Given the description of an element on the screen output the (x, y) to click on. 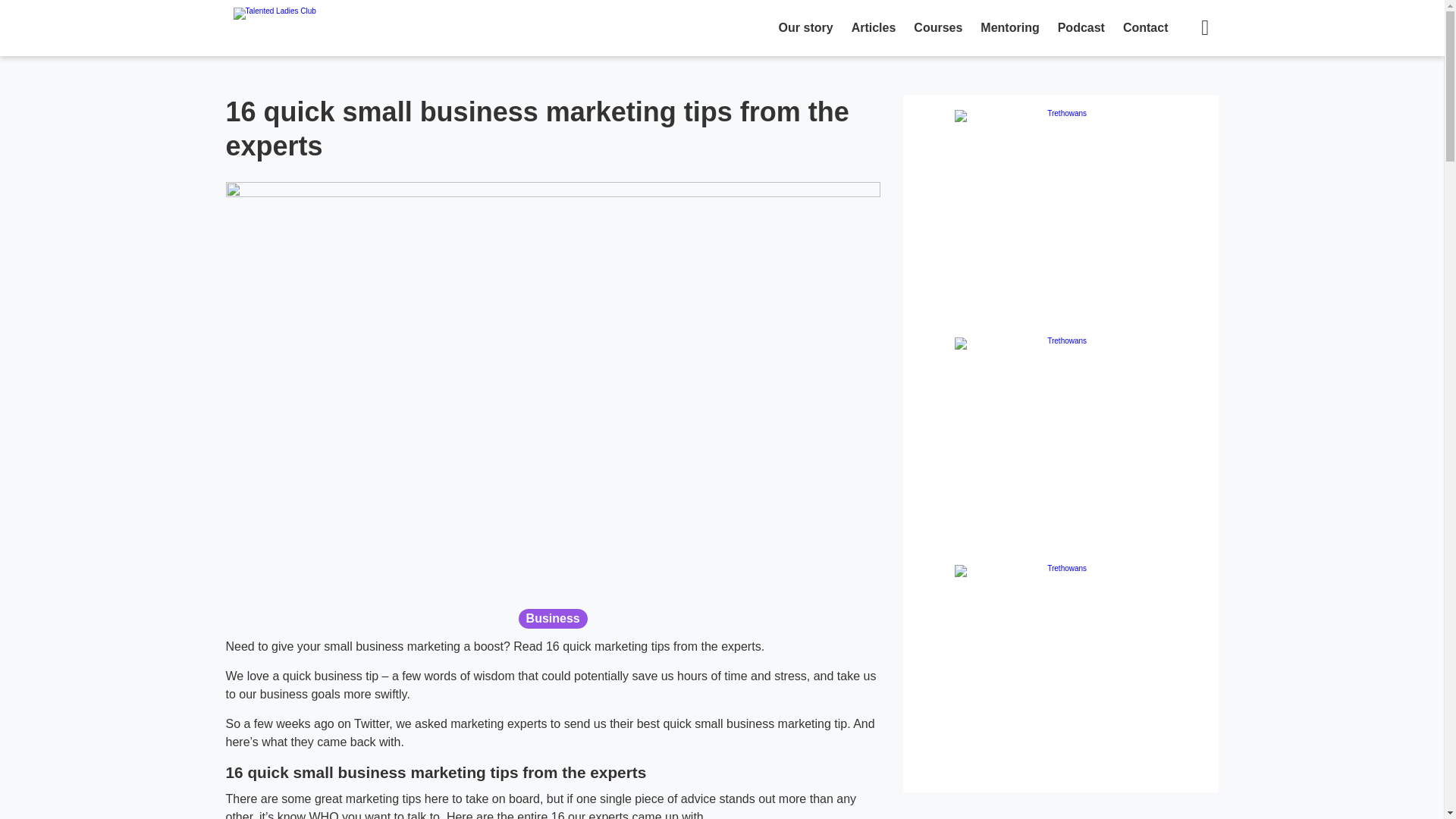
Our story (806, 28)
Podcast (1080, 28)
Articles (874, 28)
Mentoring (1009, 28)
Courses (937, 28)
Contact (1145, 28)
